Given the description of an element on the screen output the (x, y) to click on. 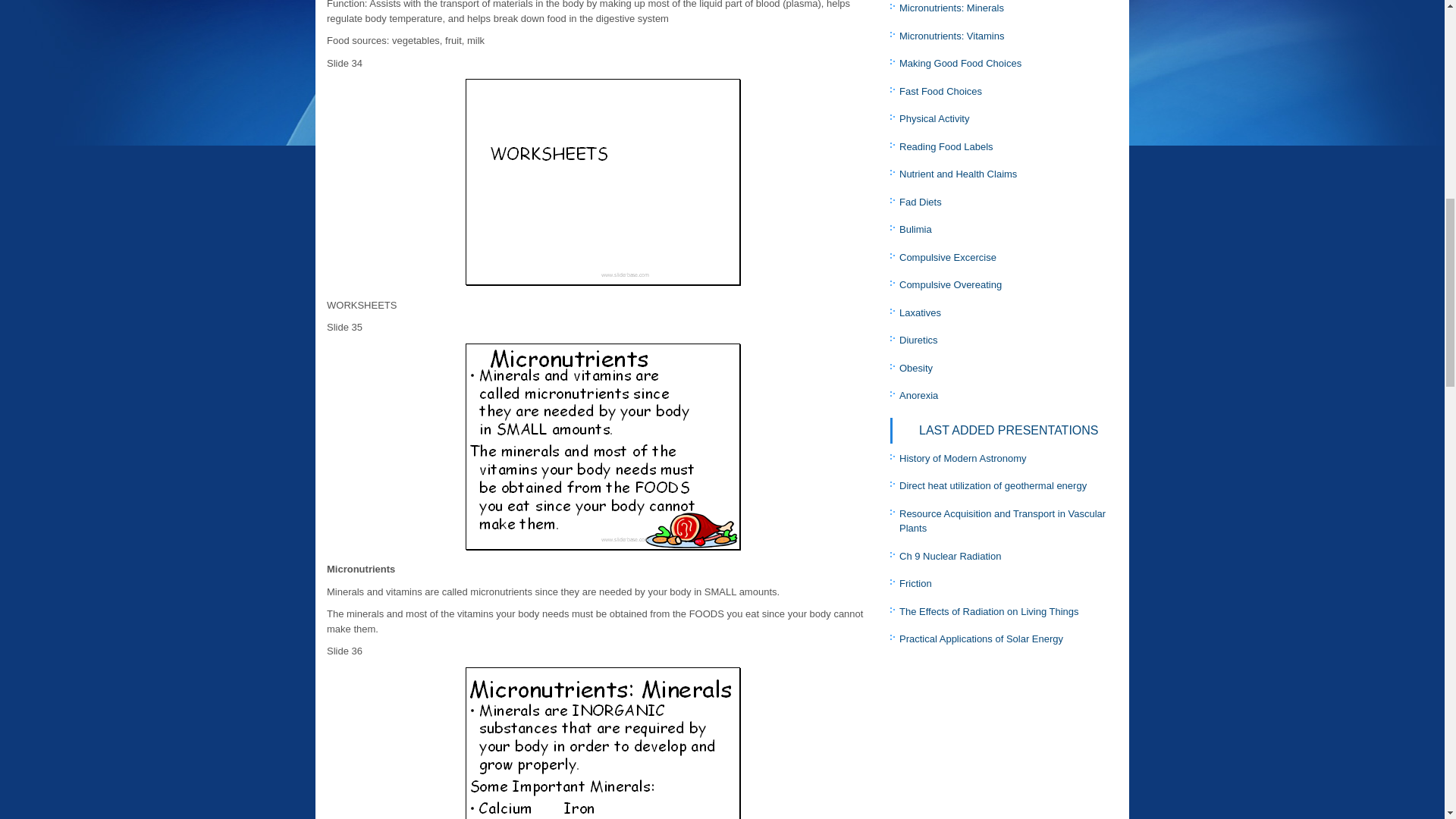
WORKSHEETS (602, 181)
Micronutrients (602, 446)
Micronutrients: Minerals (602, 742)
